Given the description of an element on the screen output the (x, y) to click on. 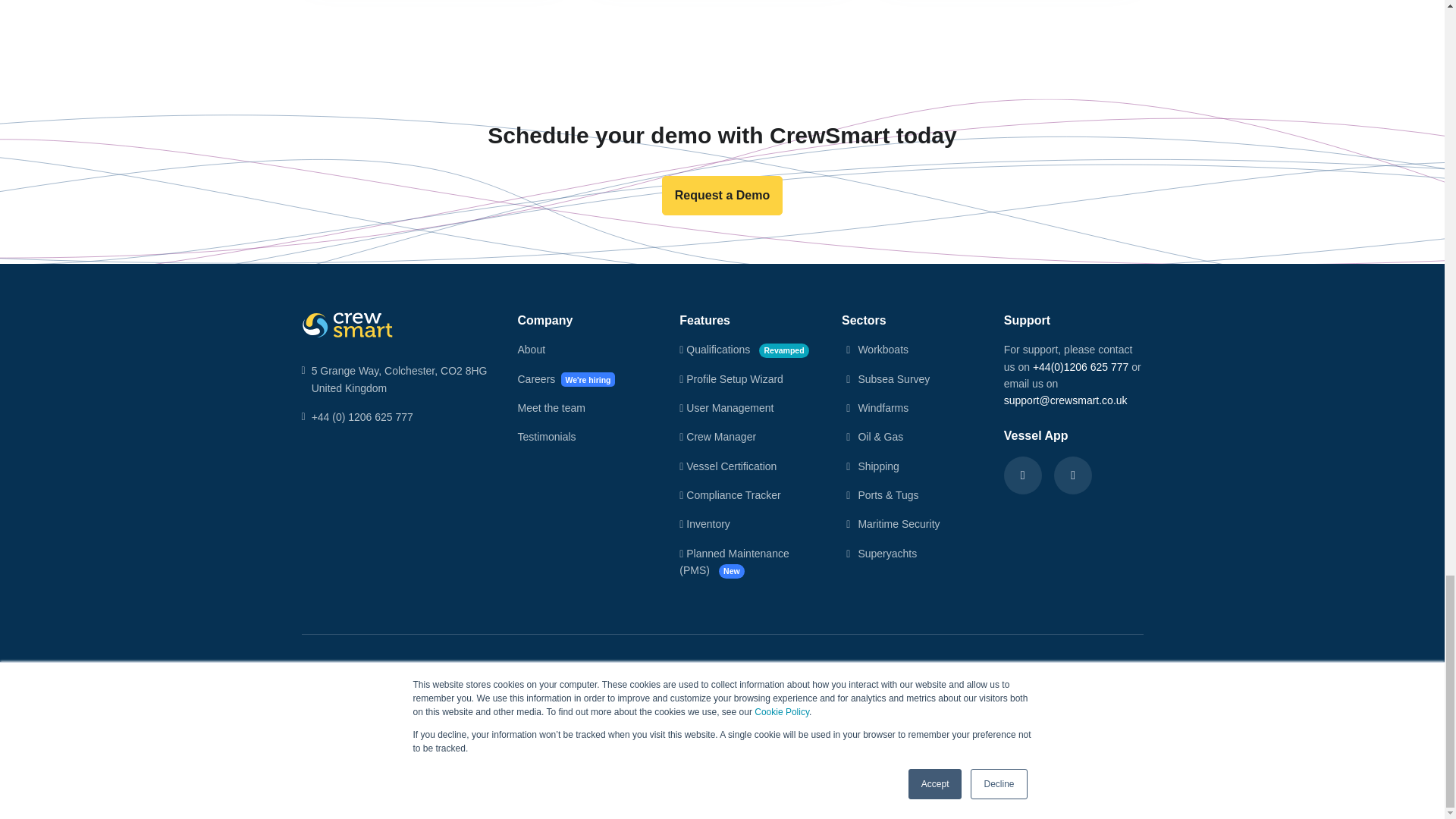
Available on iOS for tablets (1023, 475)
Cookie Policy (592, 673)
Privacy Statement (347, 673)
Sitemap (678, 673)
Available on Android for tablets (1073, 475)
Terms And Conditions (476, 673)
